Given the description of an element on the screen output the (x, y) to click on. 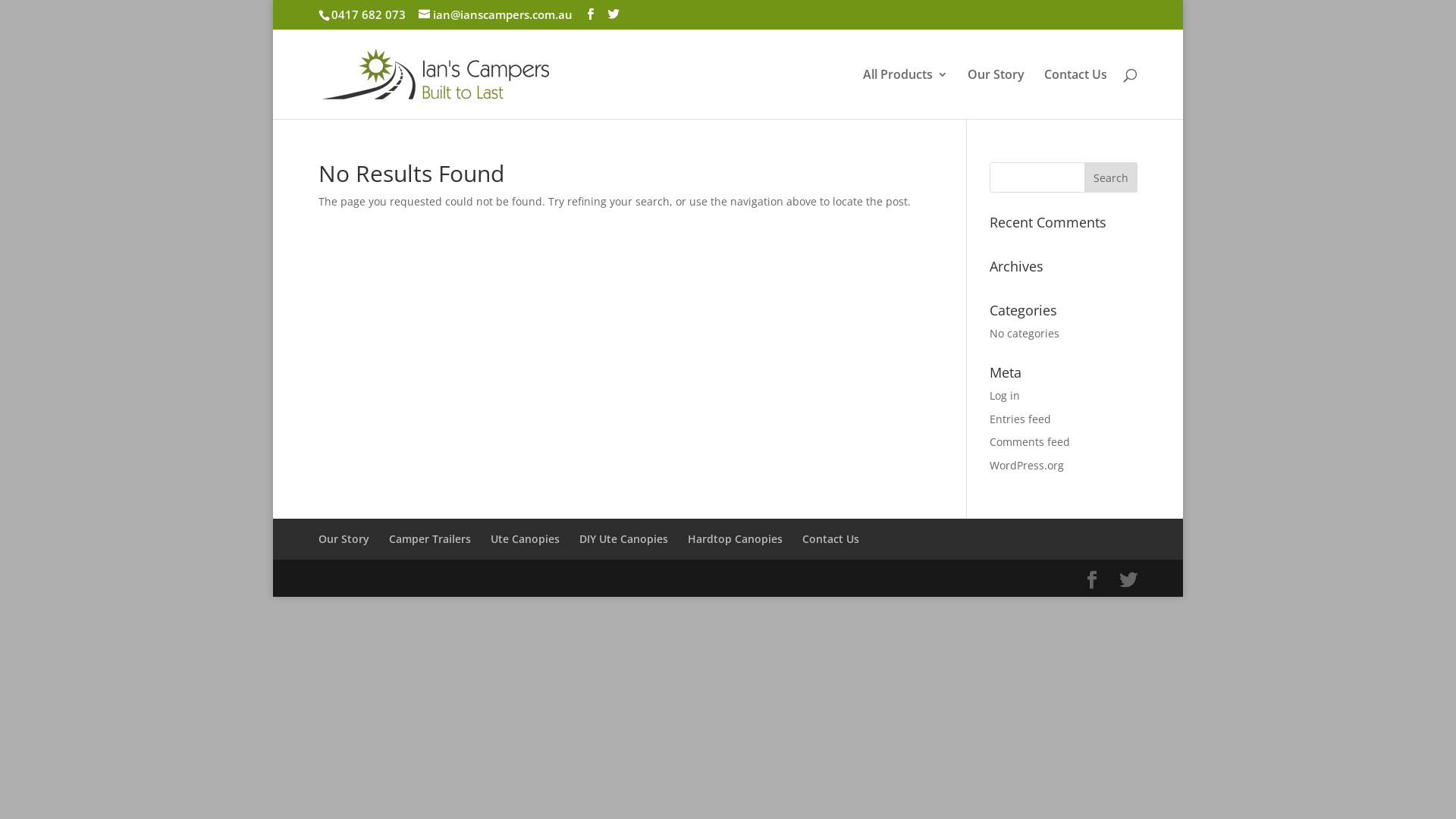
Comments feed Element type: text (1029, 441)
Camper Trailers Element type: text (429, 538)
Entries feed Element type: text (1020, 418)
Hardtop Canopies Element type: text (734, 538)
Log in Element type: text (1004, 395)
WordPress.org Element type: text (1026, 465)
Ute Canopies Element type: text (524, 538)
Our Story Element type: text (995, 93)
0417 682 073 Element type: text (366, 13)
Contact Us Element type: text (830, 538)
All Products Element type: text (904, 93)
Our Story Element type: text (343, 538)
Search Element type: text (1110, 177)
ian@ianscampers.com.au Element type: text (495, 13)
DIY Ute Canopies Element type: text (623, 538)
Contact Us Element type: text (1075, 93)
